Given the description of an element on the screen output the (x, y) to click on. 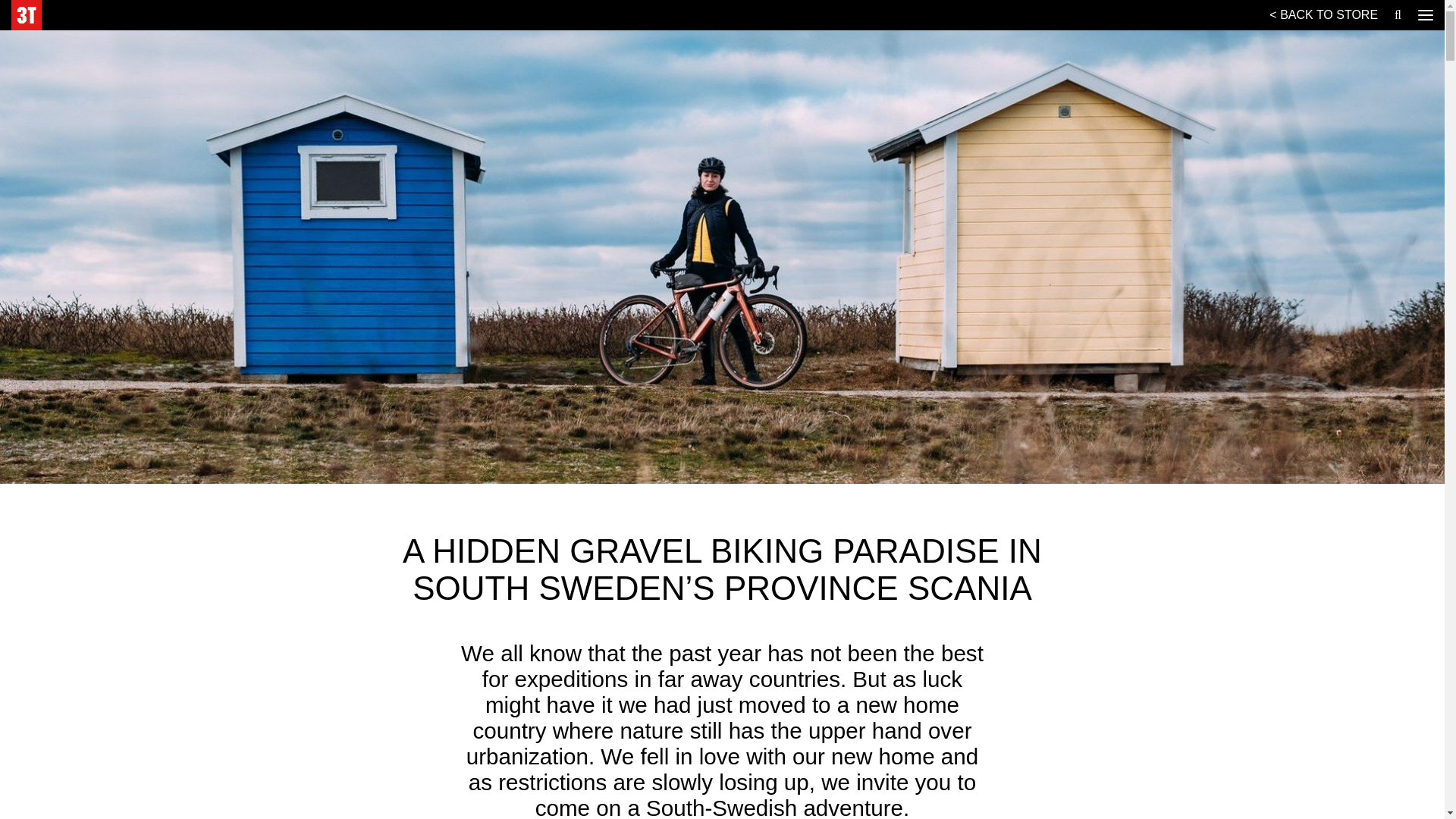
3T Blog (26, 15)
Navigation (1425, 14)
Back to store (1323, 15)
